Given the description of an element on the screen output the (x, y) to click on. 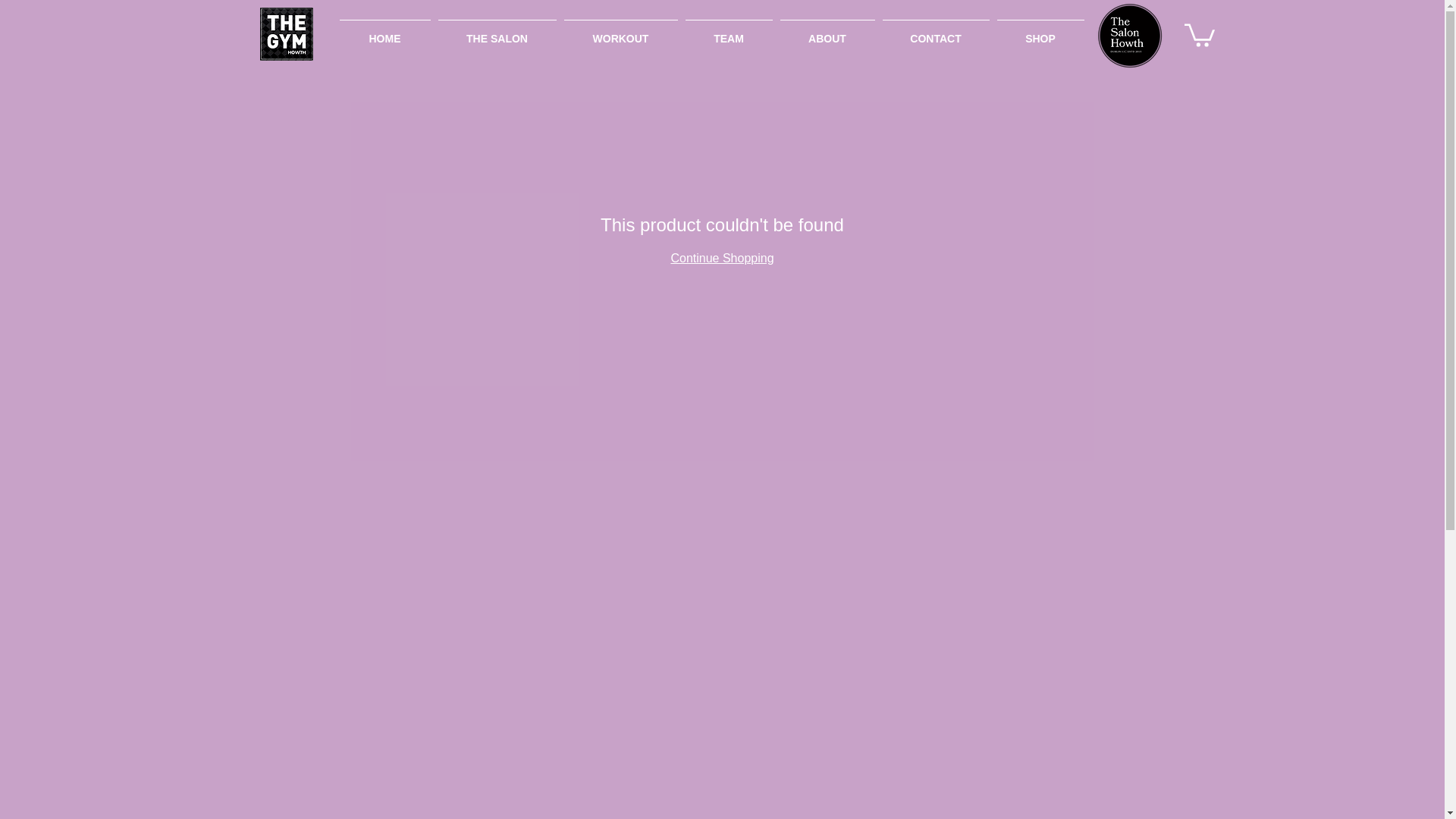
HOME (383, 32)
SHOP (1039, 32)
Continue Shopping (721, 257)
ABOUT (827, 32)
The Gym Howth (286, 33)
THE SALON (496, 32)
CONTACT (934, 32)
TEAM (728, 32)
WORKOUT (620, 32)
